Given the description of an element on the screen output the (x, y) to click on. 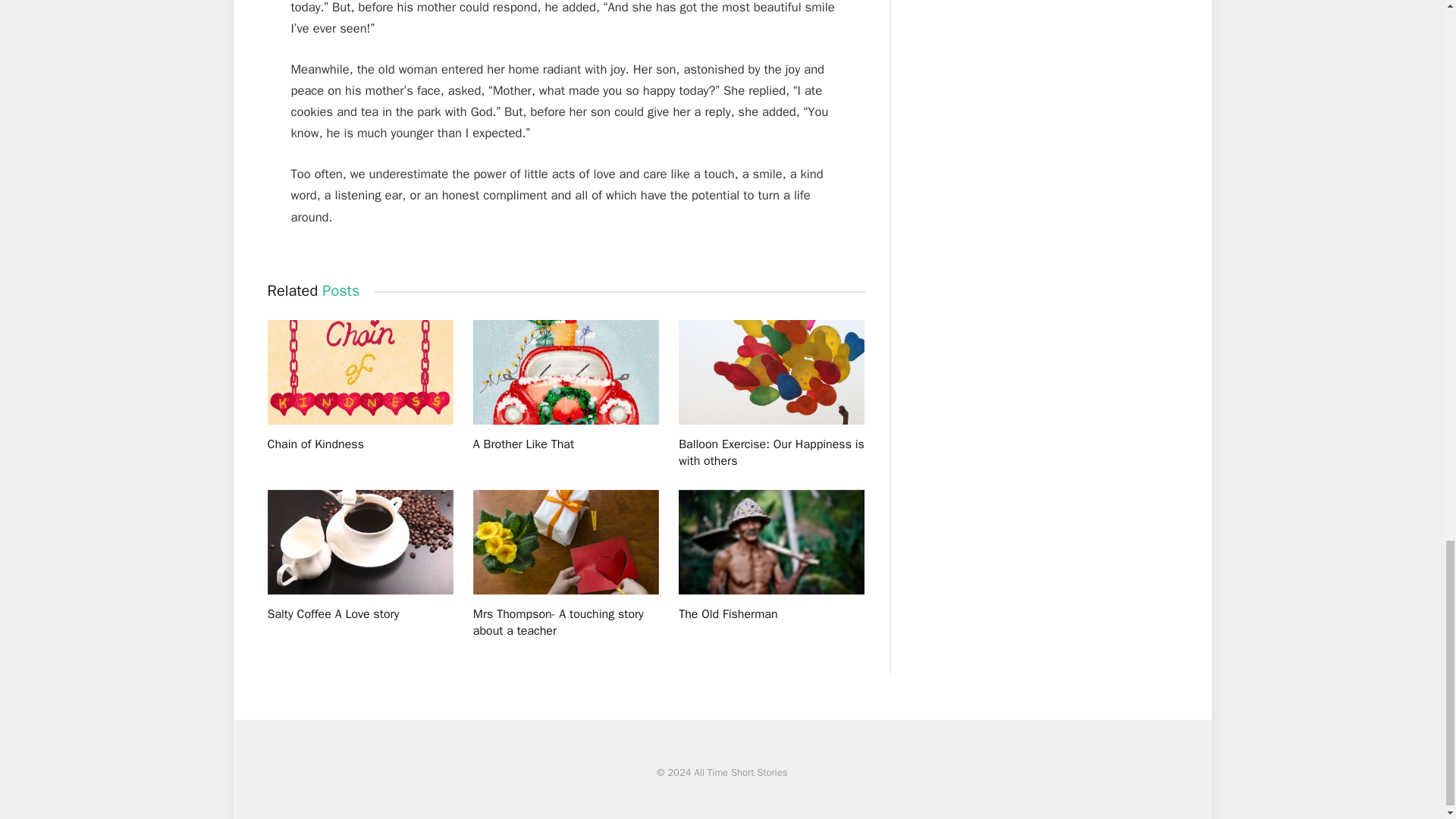
A Brother Like That (566, 444)
A Brother Like That (566, 372)
Chain of Kindness (359, 372)
Salty Coffee A Love story (359, 541)
Balloon Exercise: Our Happiness is with others (771, 372)
Mrs Thompson- A touching story about a teacher (566, 622)
Balloon Exercise: Our Happiness is with others (771, 453)
The Old Fisherman (771, 614)
Chain of Kindness (359, 444)
Salty Coffee A Love story (359, 614)
